Given the description of an element on the screen output the (x, y) to click on. 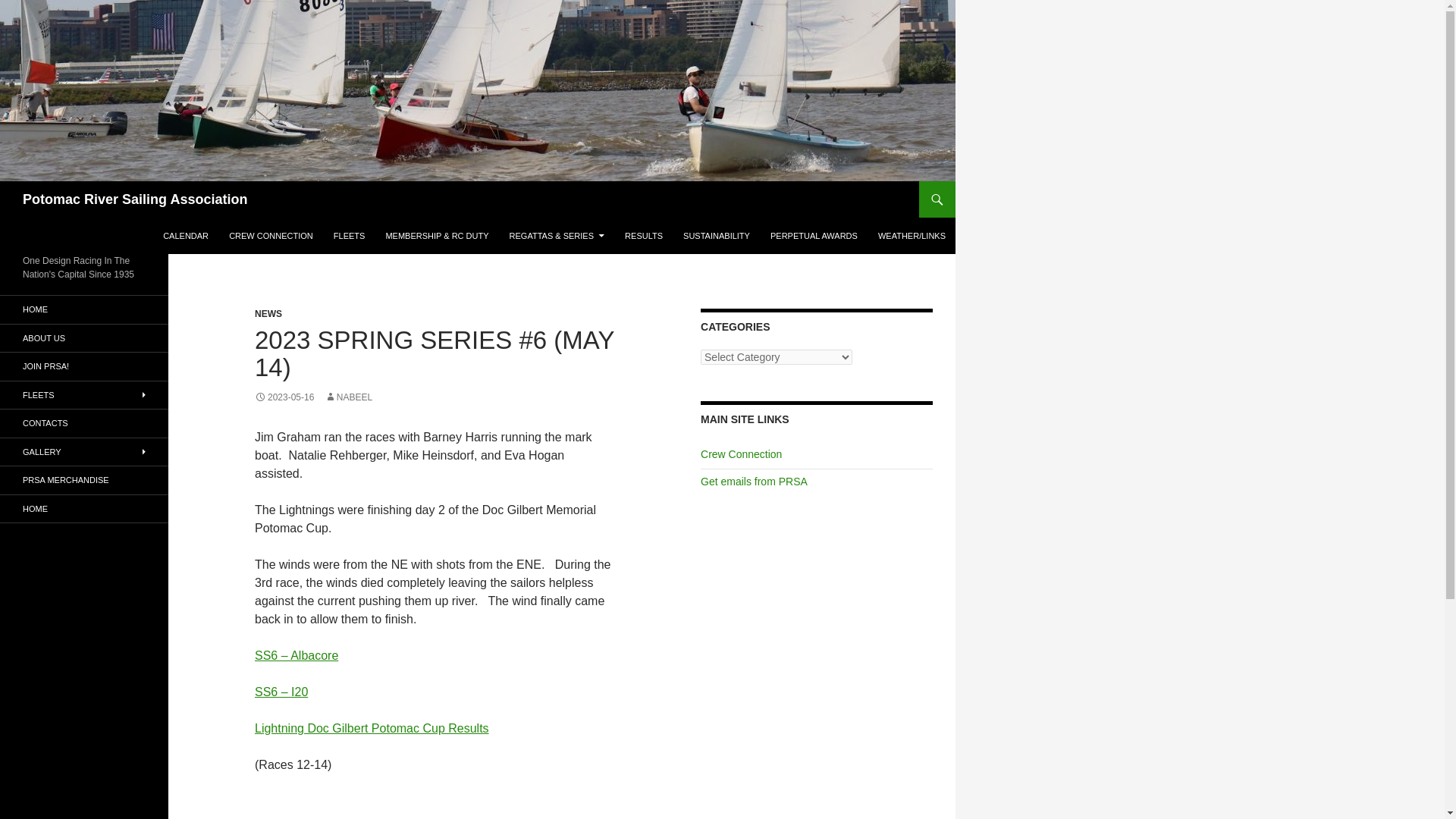
Get emails from PRSA (754, 481)
NEWS (268, 313)
How to get the PRSA email newsletter (754, 481)
CALENDAR (185, 235)
RESULTS (643, 235)
2023-05-16 (284, 397)
NABEEL (348, 397)
Potomac River Sailing Association (135, 198)
